Given the description of an element on the screen output the (x, y) to click on. 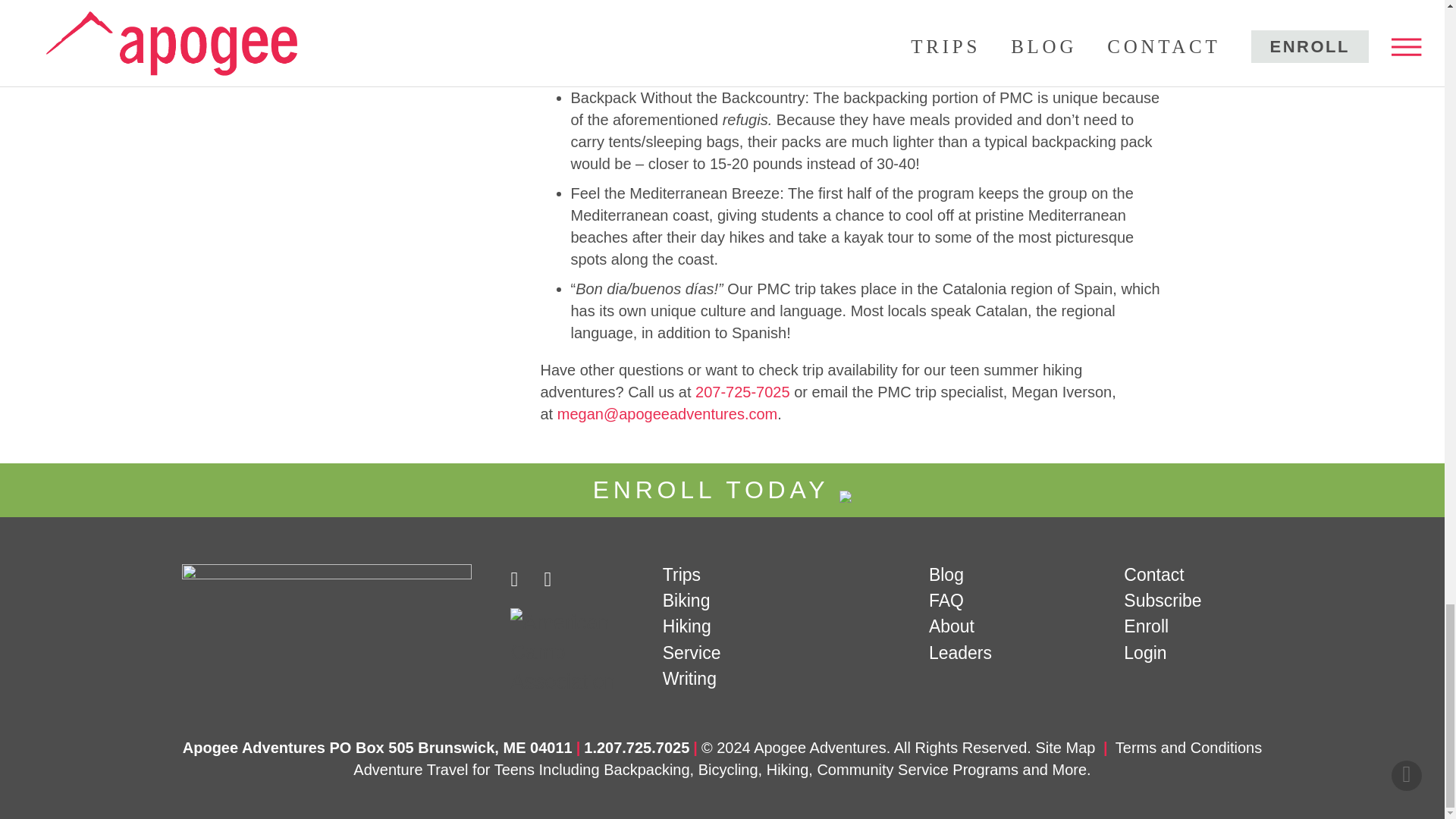
Summer Bike Trips (686, 600)
Summer Community Service Programs (691, 652)
Summer Hiking Programs (686, 626)
Apogee Adventures (333, 574)
207-725-7025 (742, 392)
